Given the description of an element on the screen output the (x, y) to click on. 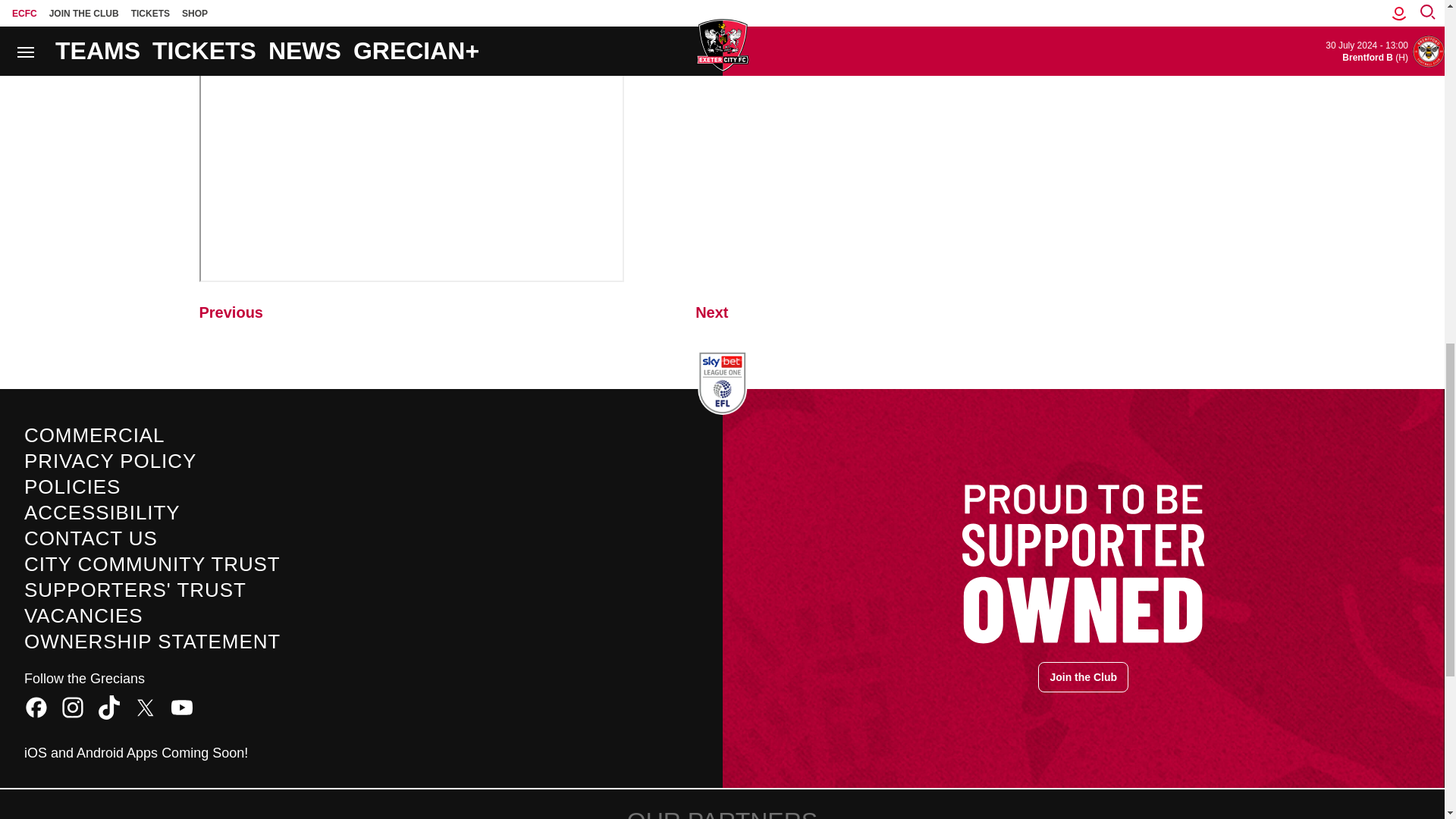
X Formally know as Twitter (145, 707)
Instagram (72, 707)
Facebook (36, 707)
TikTok icon (108, 707)
